Given the description of an element on the screen output the (x, y) to click on. 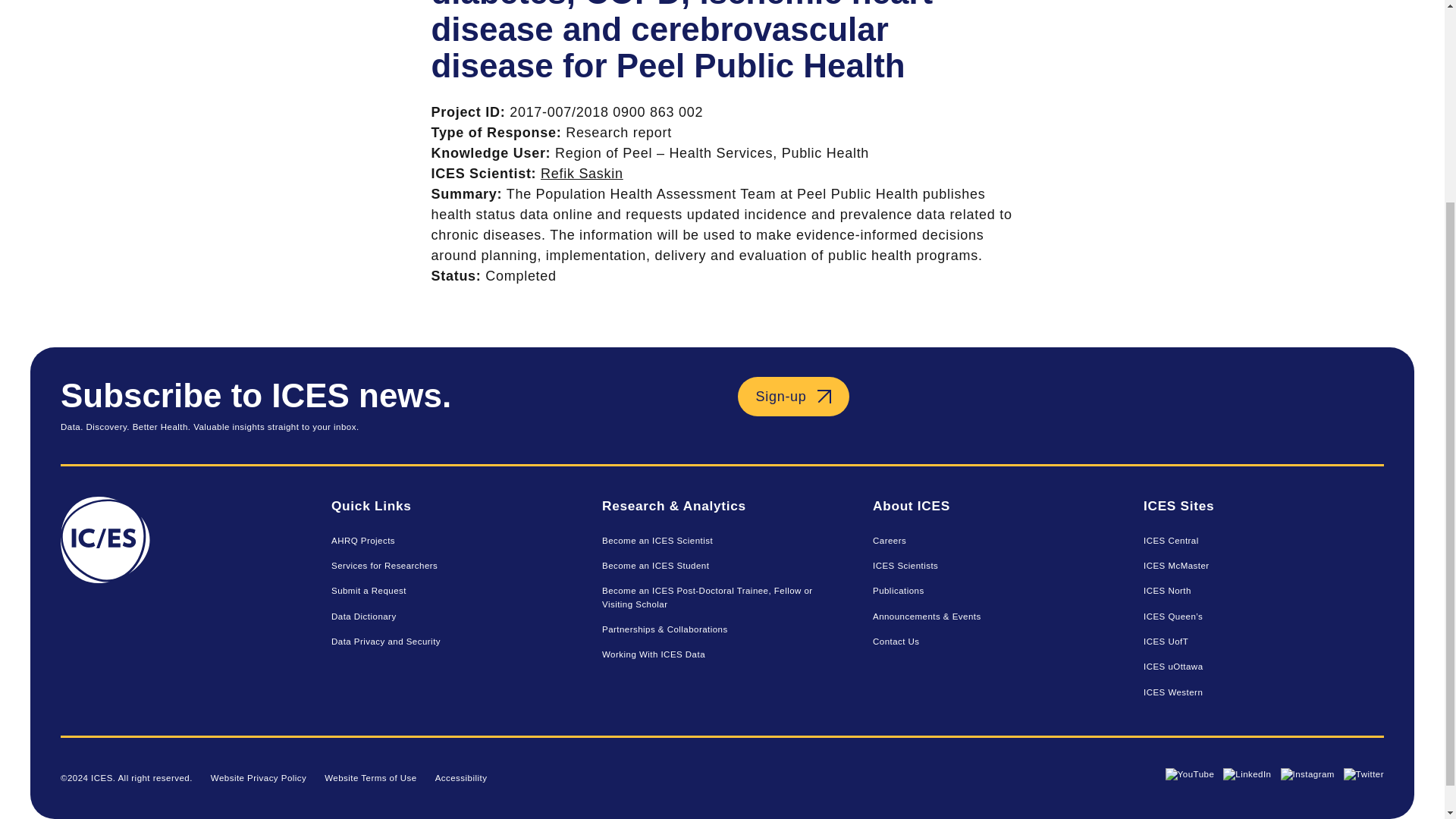
ICES (181, 600)
LinkedIn (1247, 775)
Instagram (1306, 775)
YouTube (1190, 775)
Twitter (1363, 775)
